Given the description of an element on the screen output the (x, y) to click on. 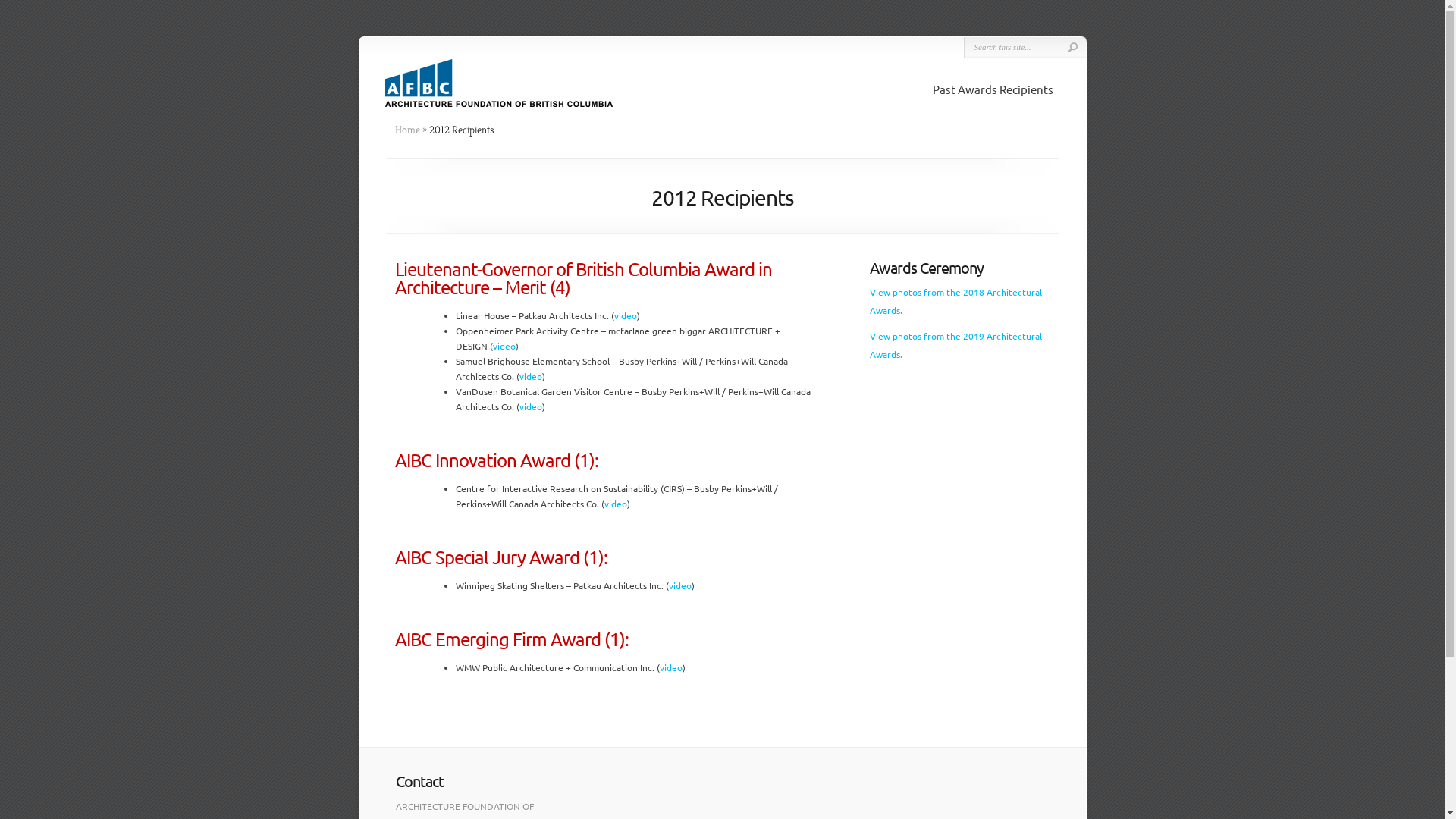
View photos from the 2019 Architectural Awards. Element type: text (955, 344)
video Element type: text (529, 406)
video Element type: text (670, 667)
View photos from the 2018 Architectural Awards. Element type: text (955, 300)
video Element type: text (614, 503)
Past Awards Recipients Element type: text (992, 89)
video Element type: text (529, 376)
video Element type: text (679, 585)
Home Element type: text (406, 129)
video Element type: text (625, 315)
video Element type: text (503, 345)
